Given the description of an element on the screen output the (x, y) to click on. 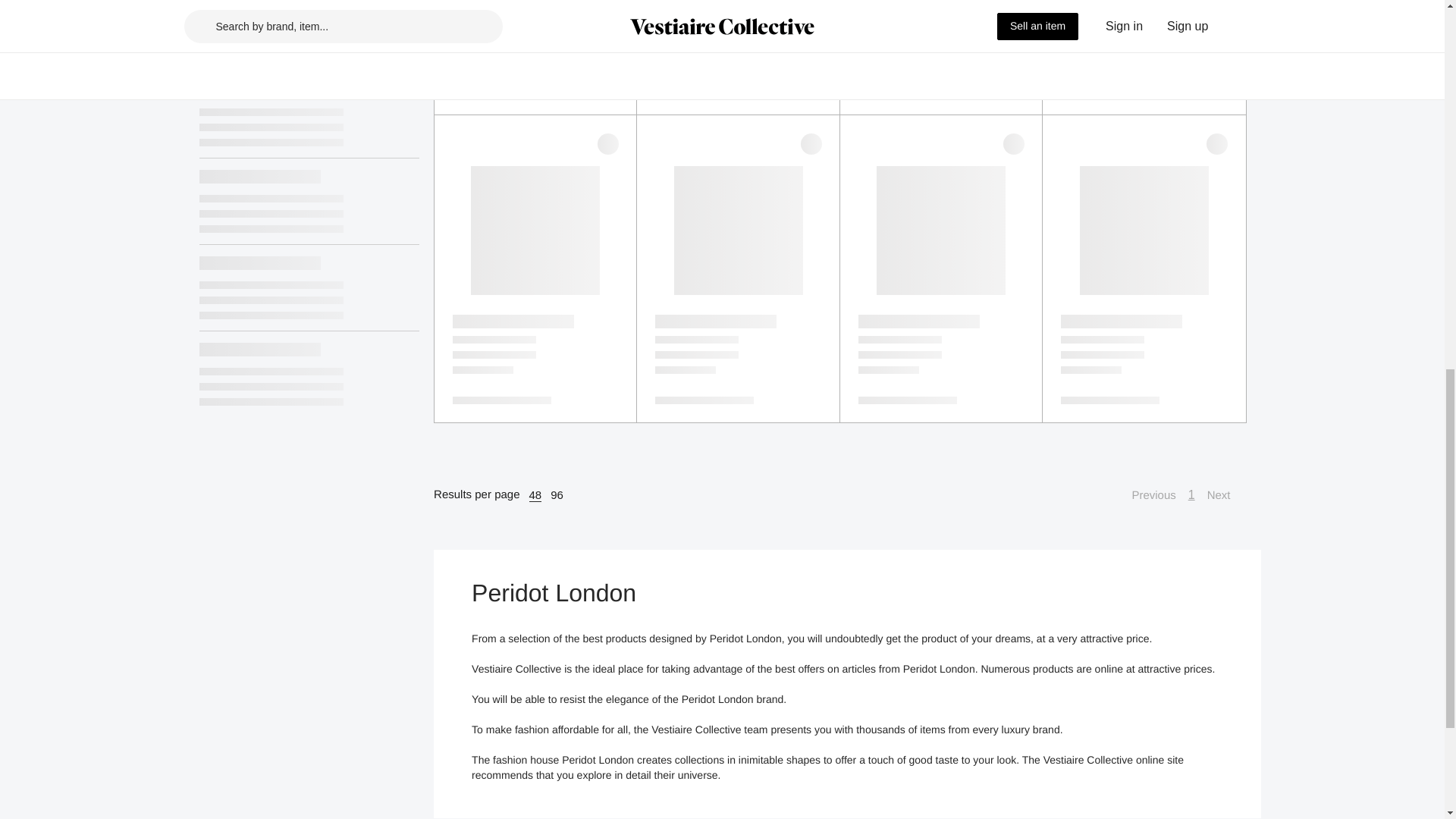
Next (1226, 495)
1 (1191, 495)
48 (535, 495)
Previous (1145, 495)
96 (556, 495)
